Given the description of an element on the screen output the (x, y) to click on. 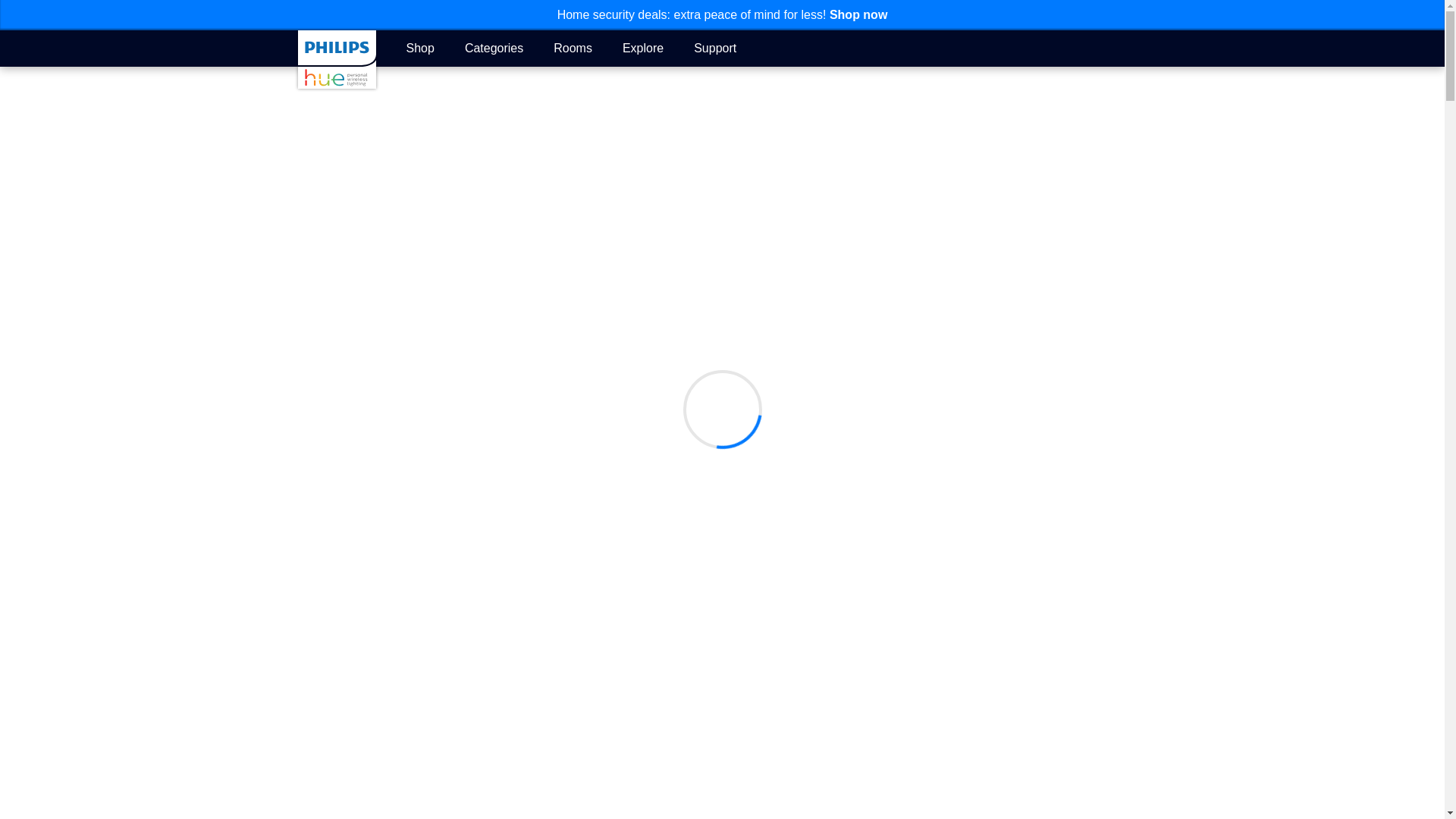
Philips Hue (336, 59)
Categories (493, 47)
Shop now (857, 14)
Shopping basket (1137, 47)
